Given the description of an element on the screen output the (x, y) to click on. 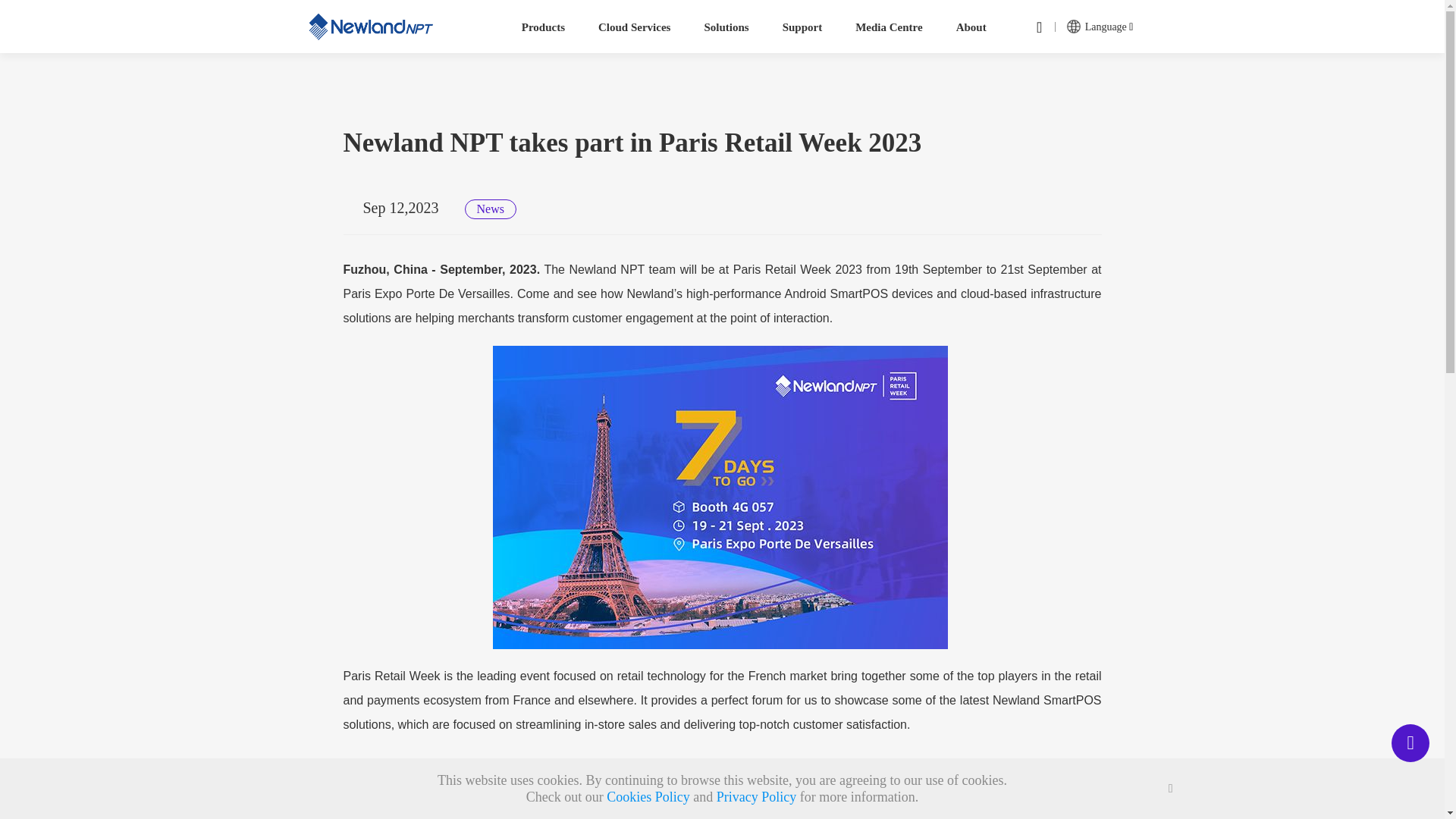
Support (802, 27)
Support (802, 27)
About (971, 27)
Media Centre (888, 27)
Cloud Services (633, 27)
Solutions (726, 27)
Products (542, 27)
Products (542, 27)
Cloud Services (633, 27)
Solutions (726, 27)
